Given the description of an element on the screen output the (x, y) to click on. 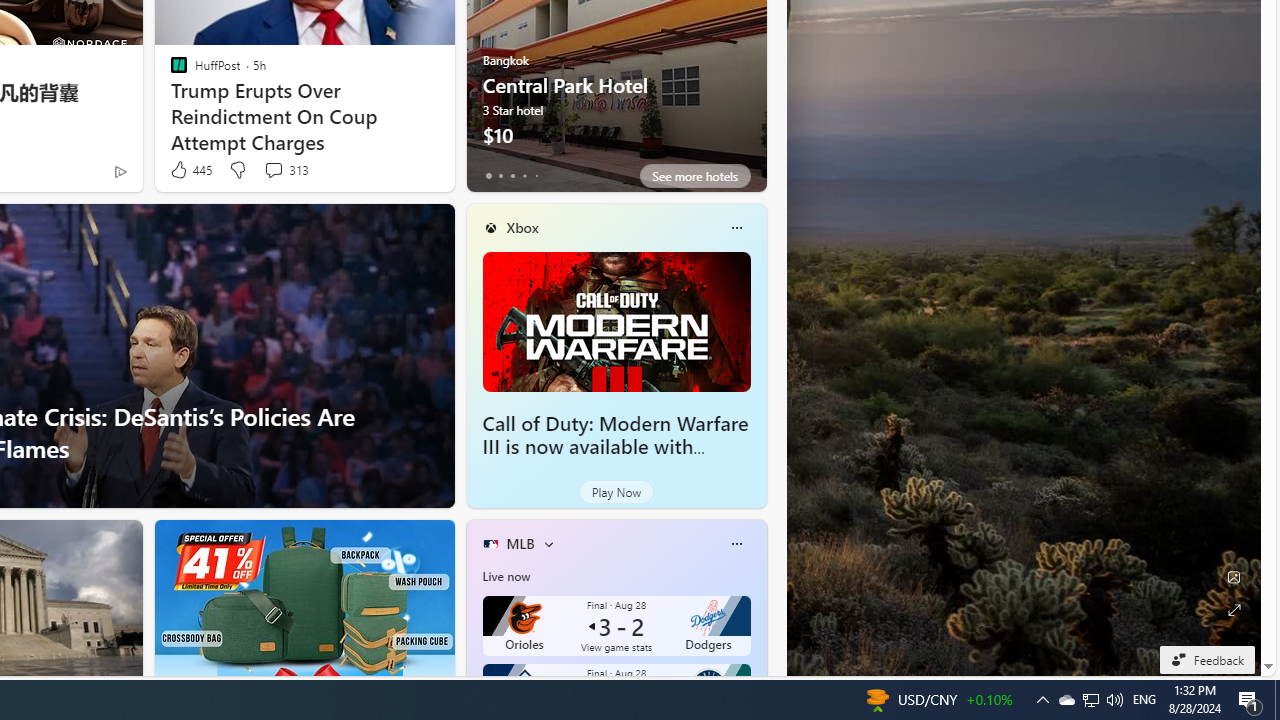
Feedback (1206, 659)
Play Now (616, 491)
View comments 313 Comment (285, 170)
445 Like (190, 170)
Ad Choice (119, 171)
tab-1 (500, 175)
Xbox (521, 227)
